Given the description of an element on the screen output the (x, y) to click on. 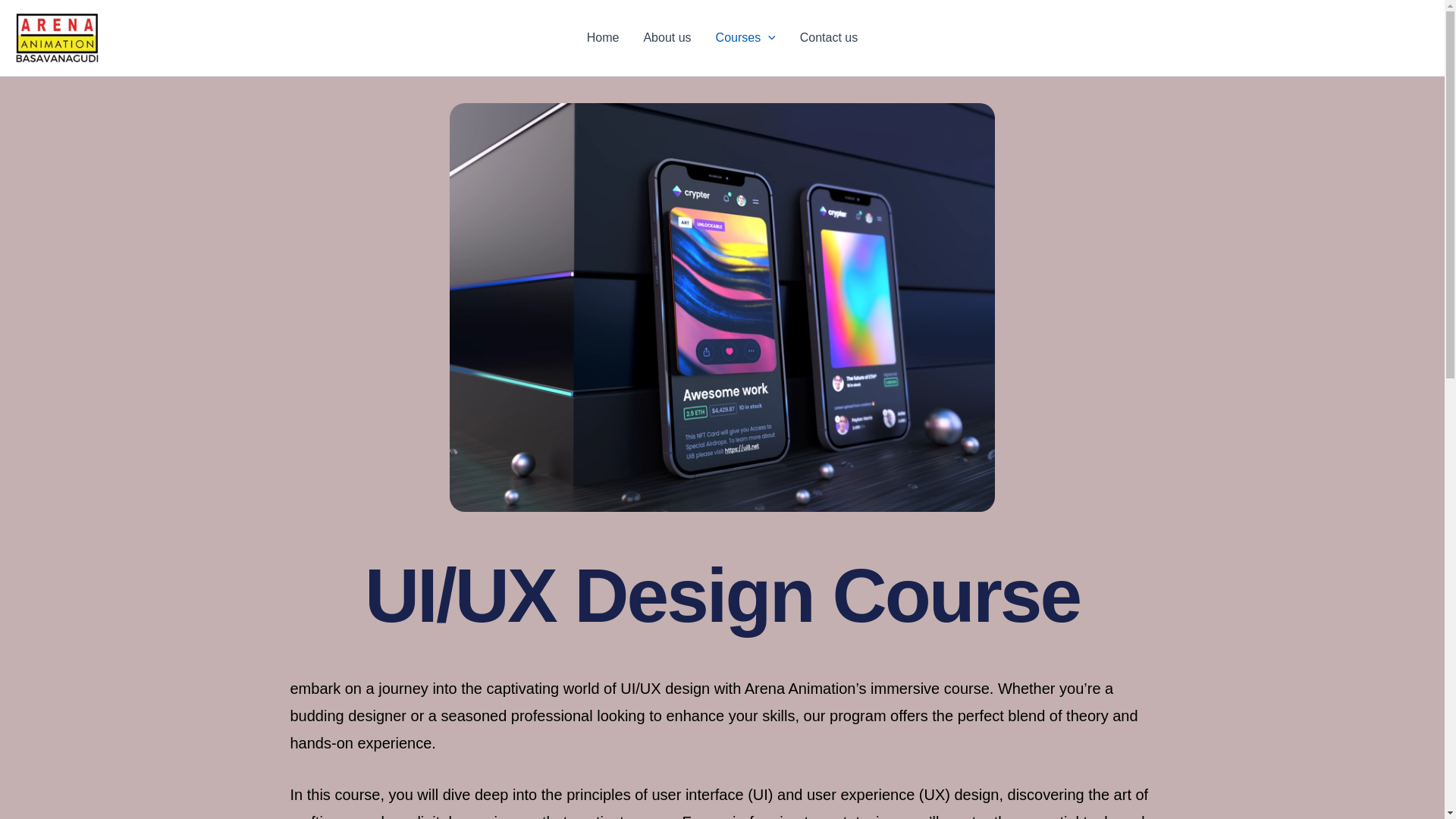
Courses (745, 37)
Home (603, 37)
Contact us (828, 37)
About us (666, 37)
